Given the description of an element on the screen output the (x, y) to click on. 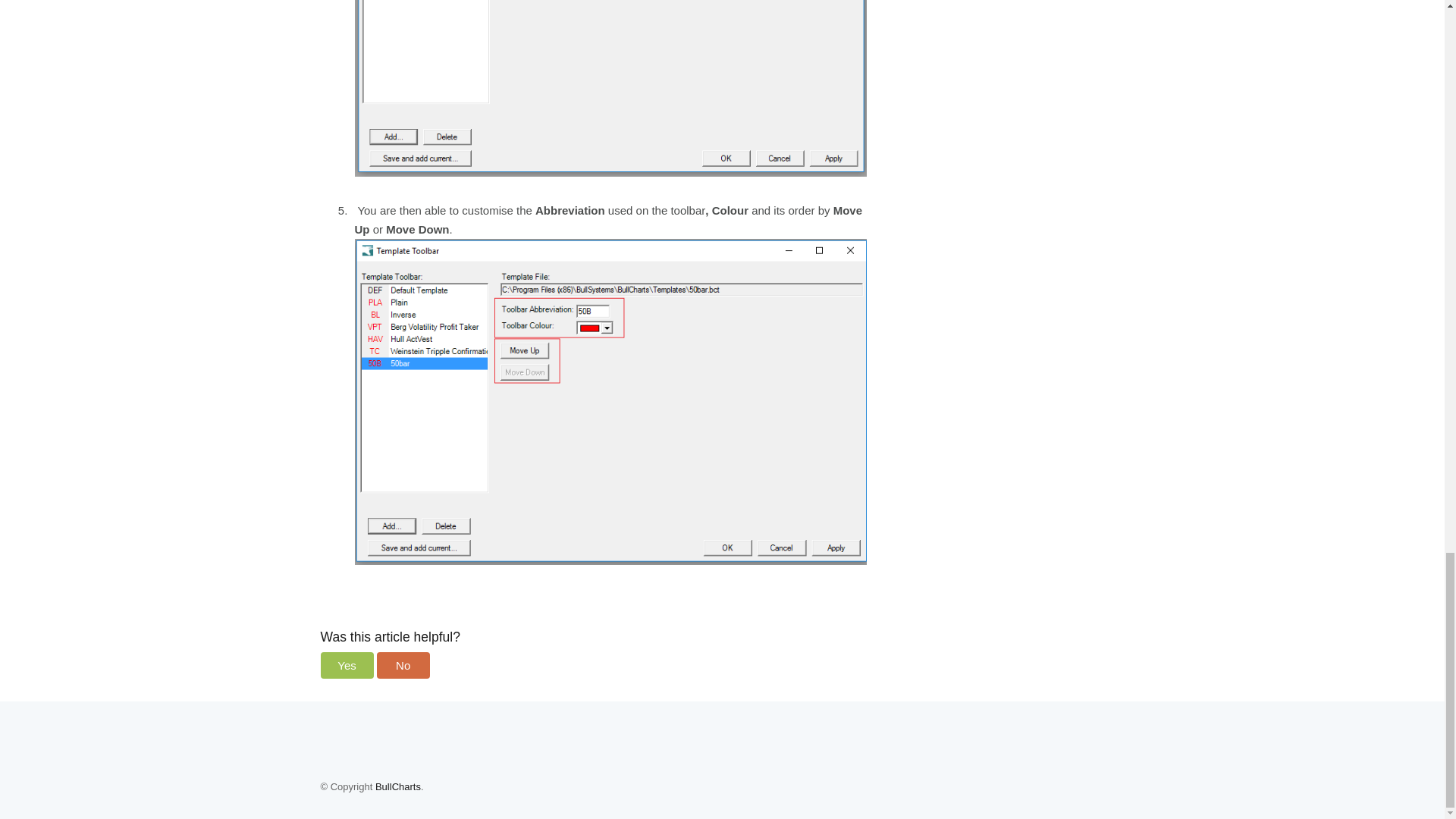
Yes (346, 664)
BullCharts (397, 786)
No (403, 664)
